Given the description of an element on the screen output the (x, y) to click on. 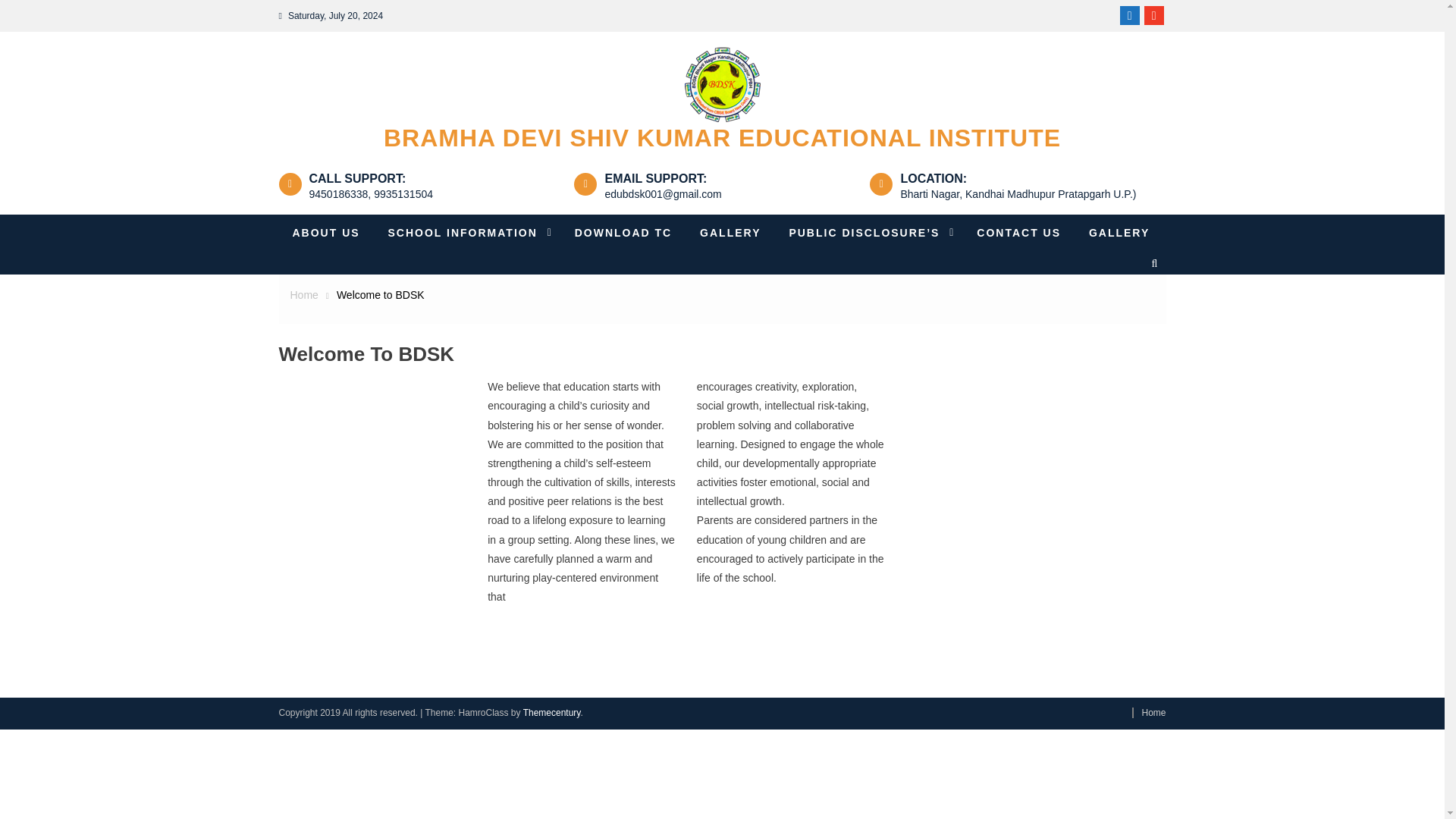
ABOUT US (326, 232)
9450186338, 9935131504 (370, 193)
Search (1139, 321)
GALLERY (729, 232)
CONTACT US (1018, 232)
GALLERY (1119, 232)
BRAMHA DEVI SHIV KUMAR EDUCATIONAL INSTITUTE (722, 137)
DOWNLOAD TC (622, 232)
SCHOOL INFORMATION (467, 232)
